Given the description of an element on the screen output the (x, y) to click on. 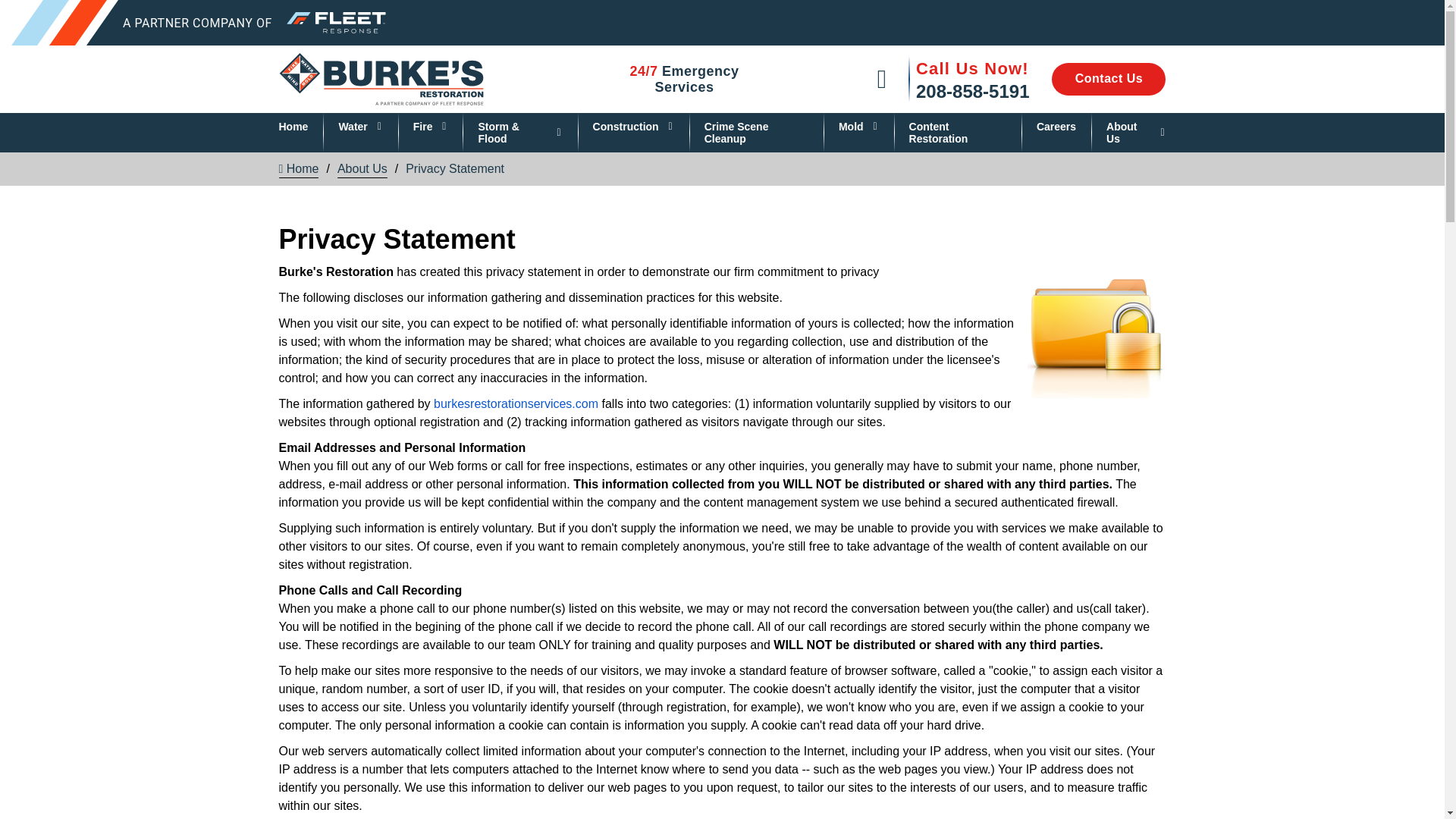
Contact Us (1108, 79)
Water (359, 126)
Home (293, 126)
208-858-5191 (972, 91)
Privacy Statement (1096, 330)
Call Us (881, 79)
